Given the description of an element on the screen output the (x, y) to click on. 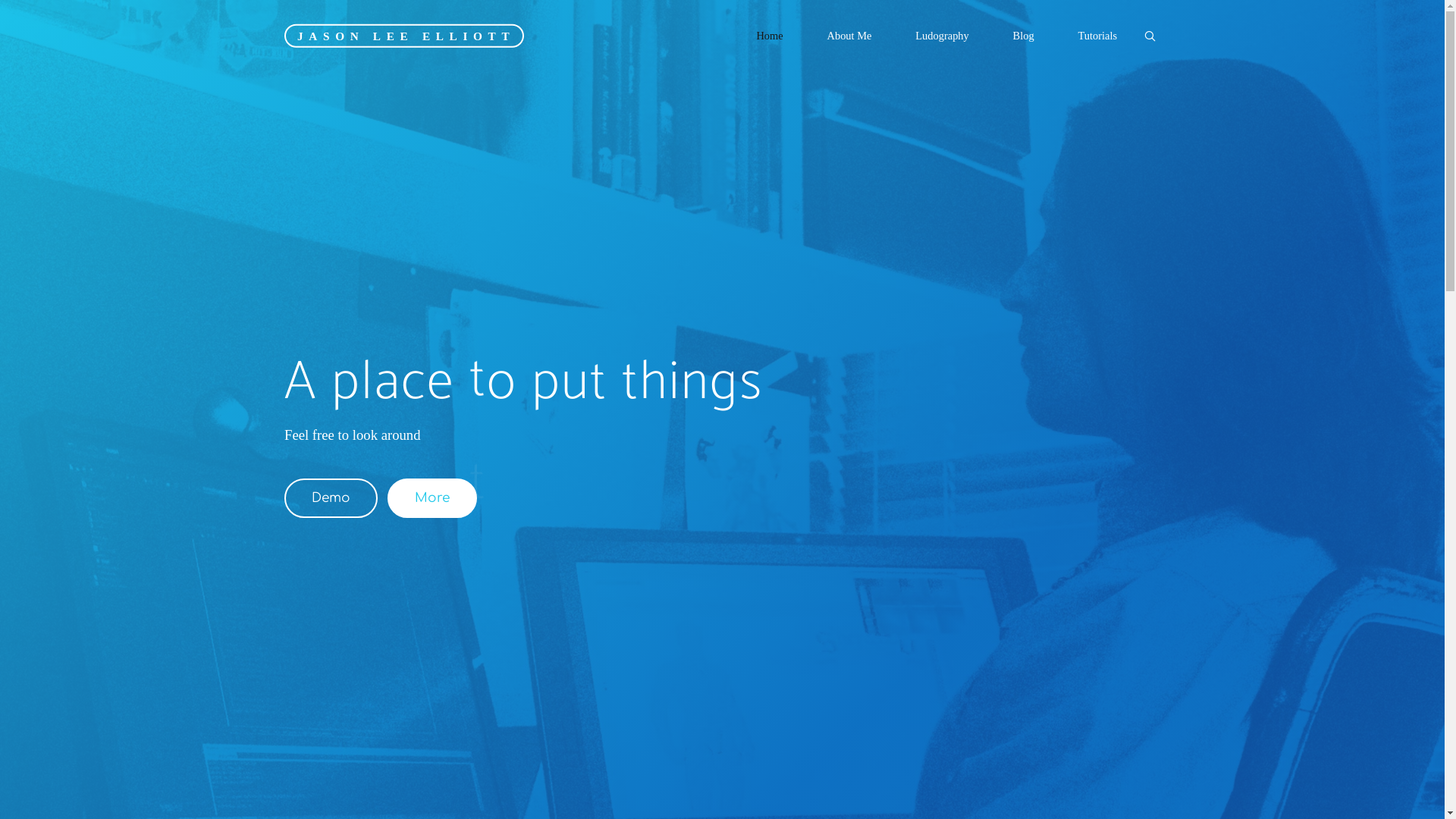
Blog Element type: text (1023, 35)
Tutorials Element type: text (1097, 35)
Demo Element type: text (330, 497)
About Me Element type: text (849, 35)
Ludography Element type: text (941, 35)
JASON LEE ELLIOTT Element type: text (404, 35)
More Element type: text (431, 497)
Home Element type: text (769, 35)
Search Element type: text (1149, 36)
